Given the description of an element on the screen output the (x, y) to click on. 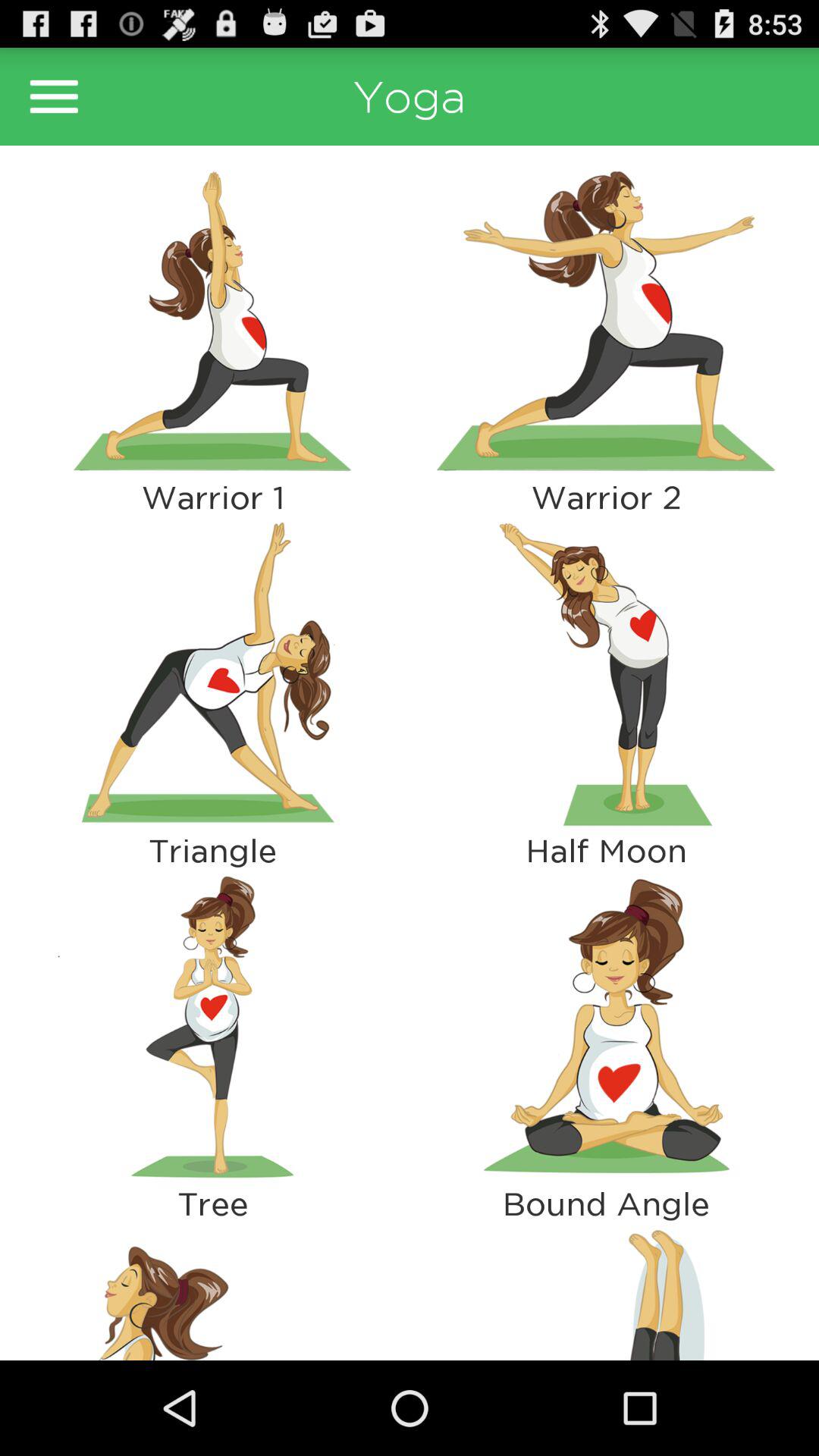
show more info about that pose (212, 320)
